Given the description of an element on the screen output the (x, y) to click on. 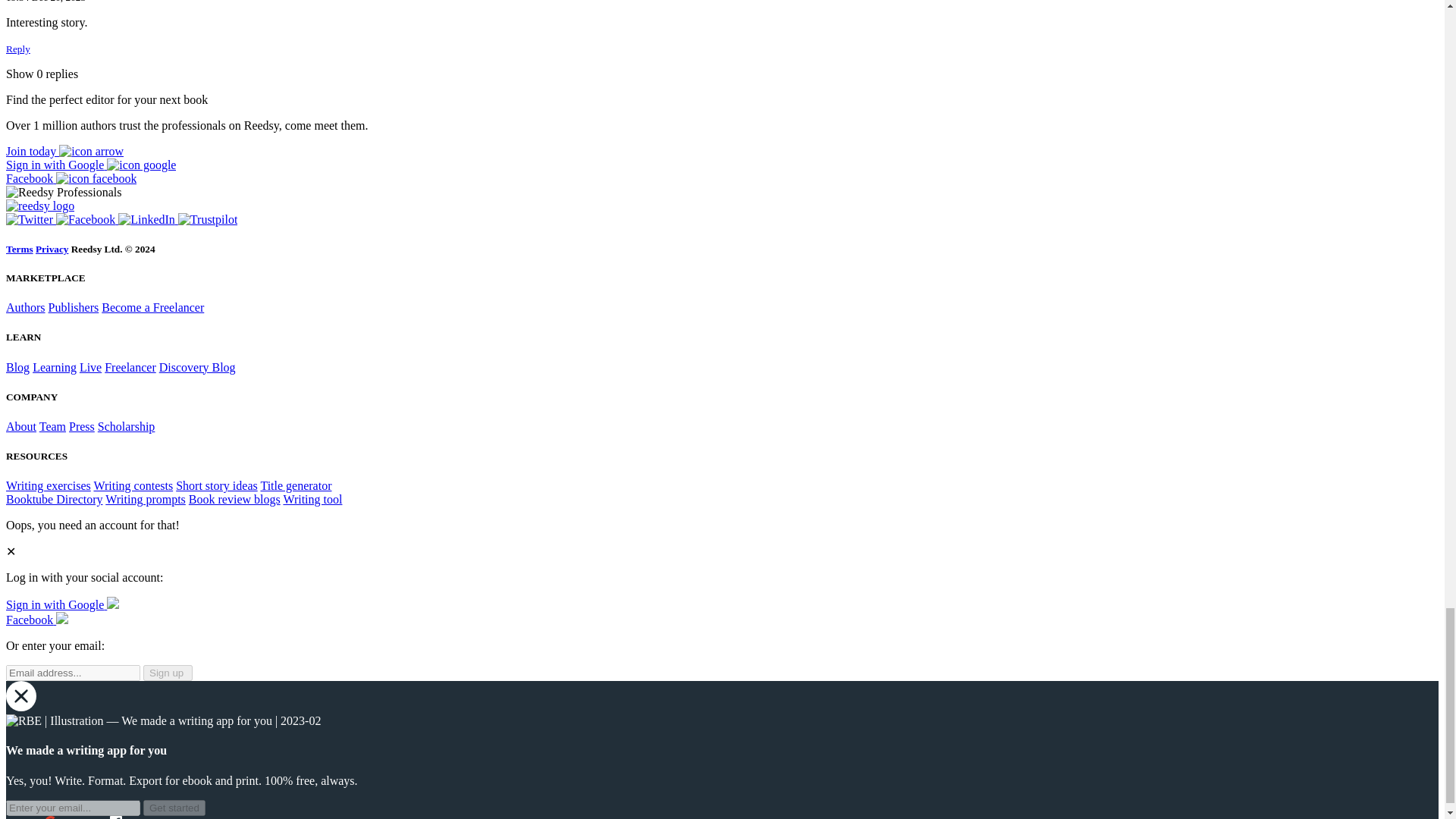
Sign in with Google (62, 604)
Get started (173, 807)
Trustpilot (207, 219)
Sign in with Google (90, 164)
Sign in with Facebook (70, 178)
Facebook (86, 219)
Sign up (64, 151)
Sign in with Facebook (36, 619)
LinkedIn (147, 219)
Twitter (30, 219)
